Given the description of an element on the screen output the (x, y) to click on. 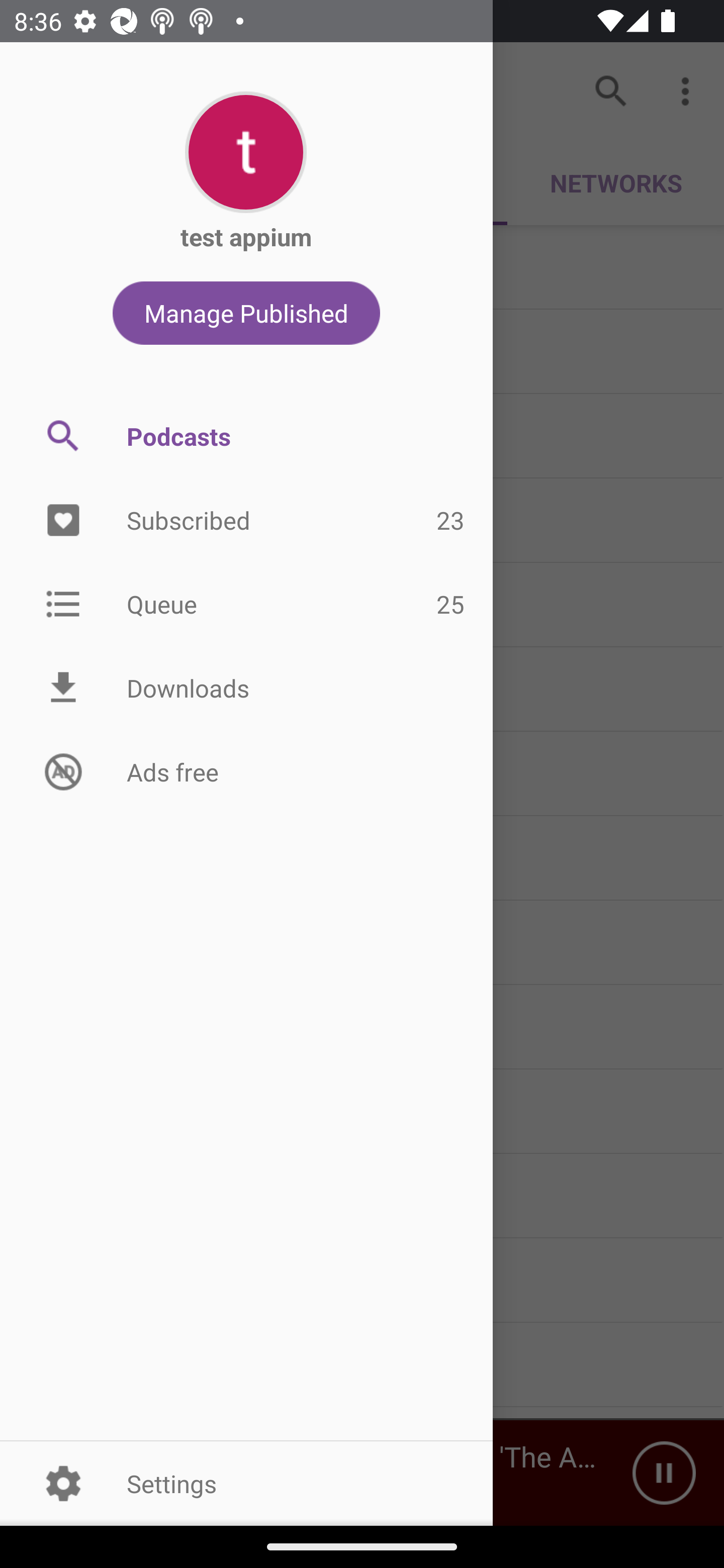
Manage Published (246, 312)
Picture Podcasts (246, 435)
Picture Subscribed 23 (246, 520)
Picture Queue 25 (246, 603)
Picture Downloads (246, 688)
Picture Ads free (246, 771)
Settings Picture Settings (246, 1482)
